Given the description of an element on the screen output the (x, y) to click on. 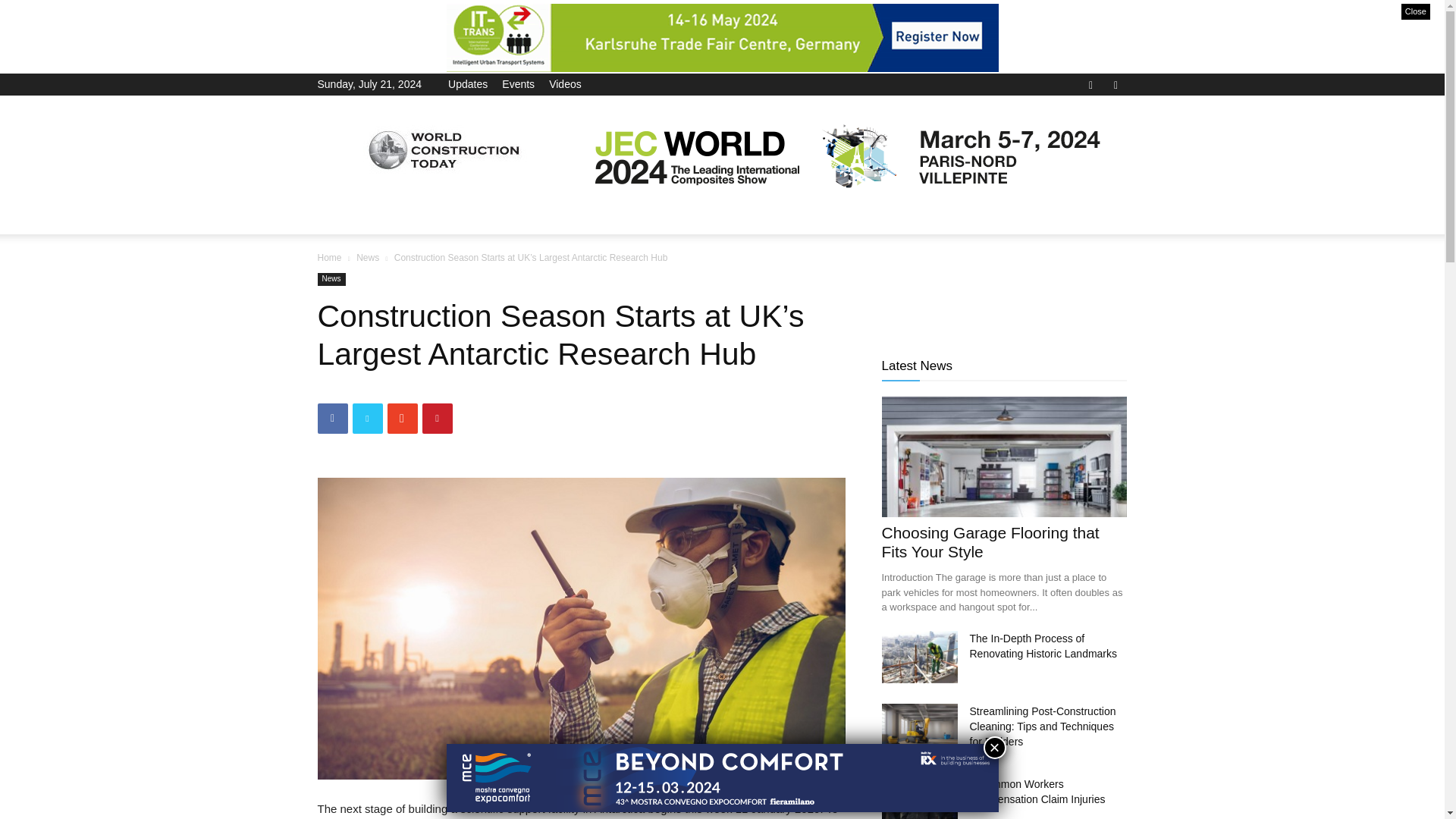
Linkedin (1114, 83)
Events (518, 82)
Facebook (1090, 83)
NEWS (402, 215)
Updates (467, 82)
Videos (564, 82)
HOME (343, 215)
